Given the description of an element on the screen output the (x, y) to click on. 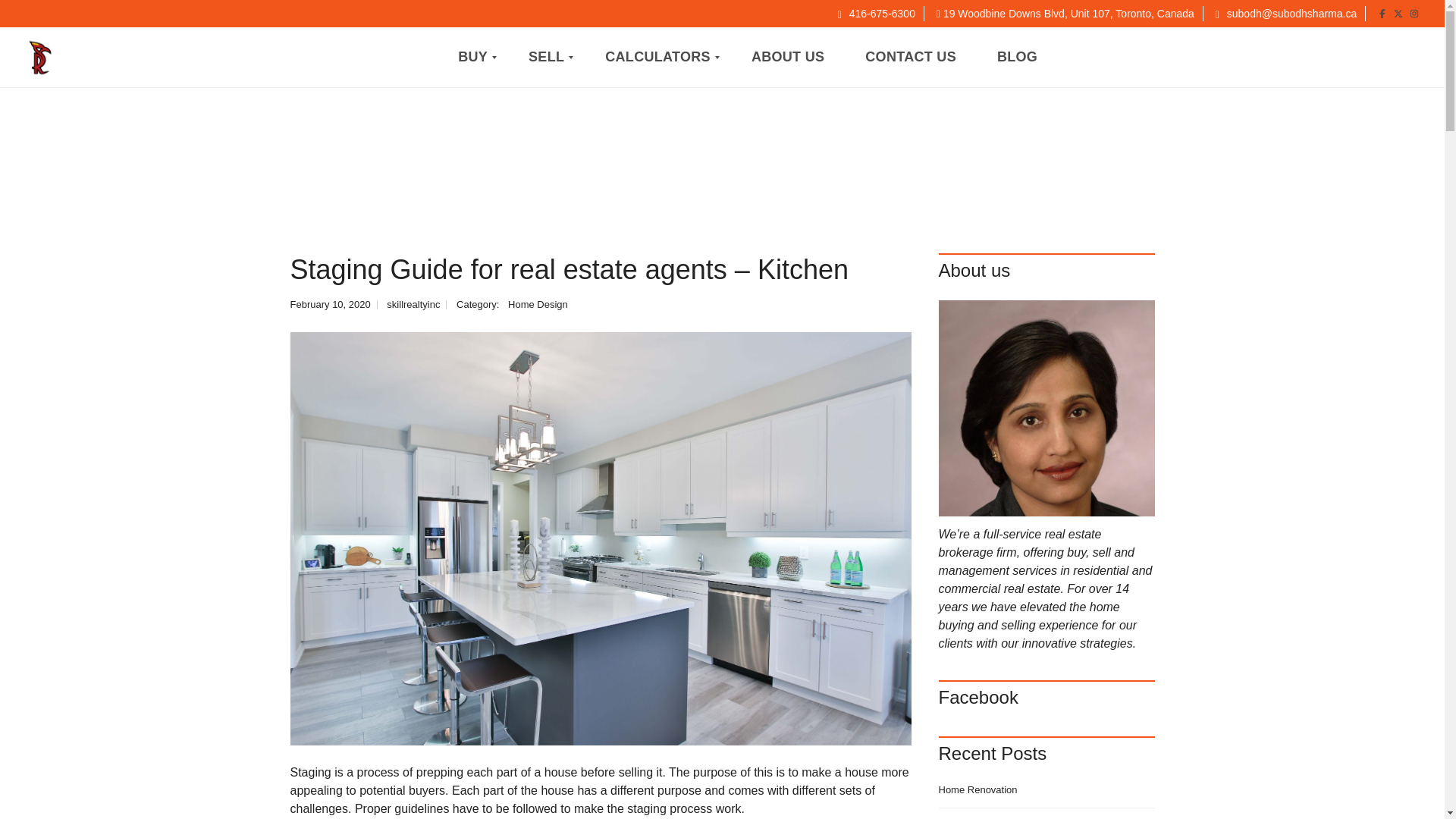
ABOUT US (787, 57)
SELL (545, 57)
CONTACT US (910, 57)
BLOG (1016, 57)
CALCULATORS (657, 57)
416-675-6300 (876, 13)
Home Design (537, 304)
